Given the description of an element on the screen output the (x, y) to click on. 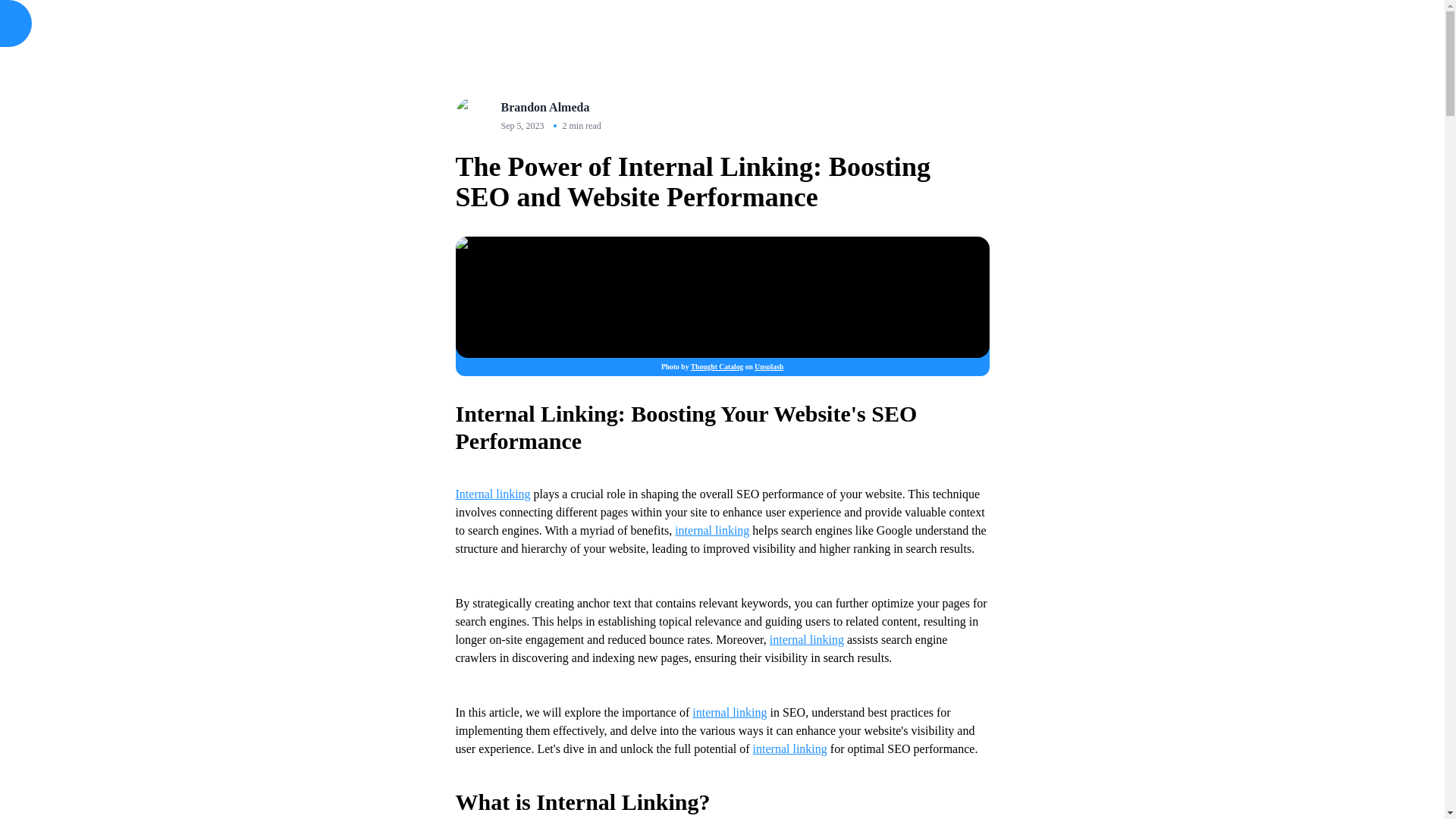
internal linking (807, 639)
internal linking (730, 712)
internal linking (789, 748)
internal linking (712, 530)
Unsplash (768, 366)
Thought Catalog (717, 366)
Internal linking (491, 493)
